Given the description of an element on the screen output the (x, y) to click on. 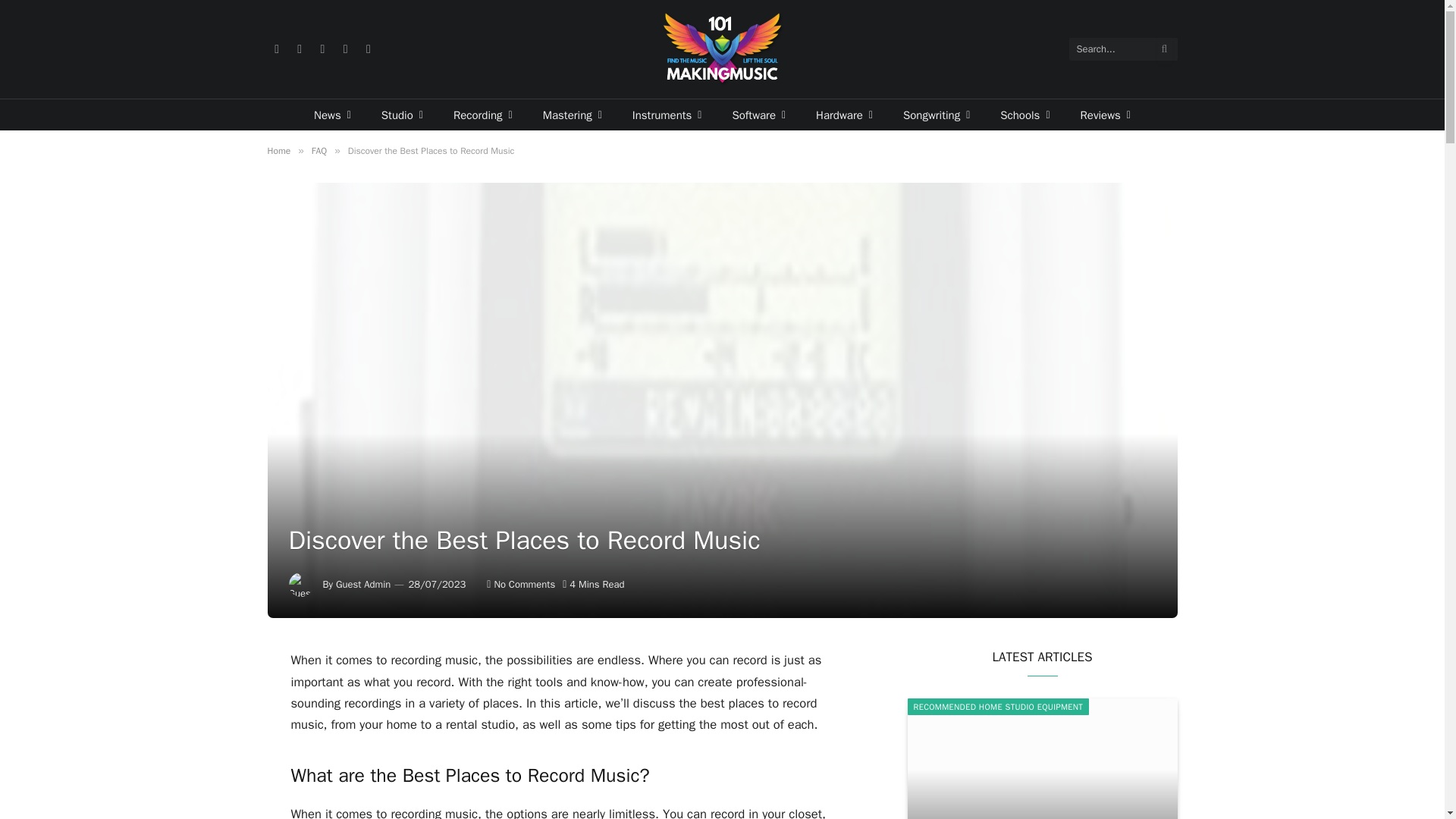
Studio (402, 114)
Recording (482, 114)
Making Music 101 (721, 49)
News (332, 114)
